Given the description of an element on the screen output the (x, y) to click on. 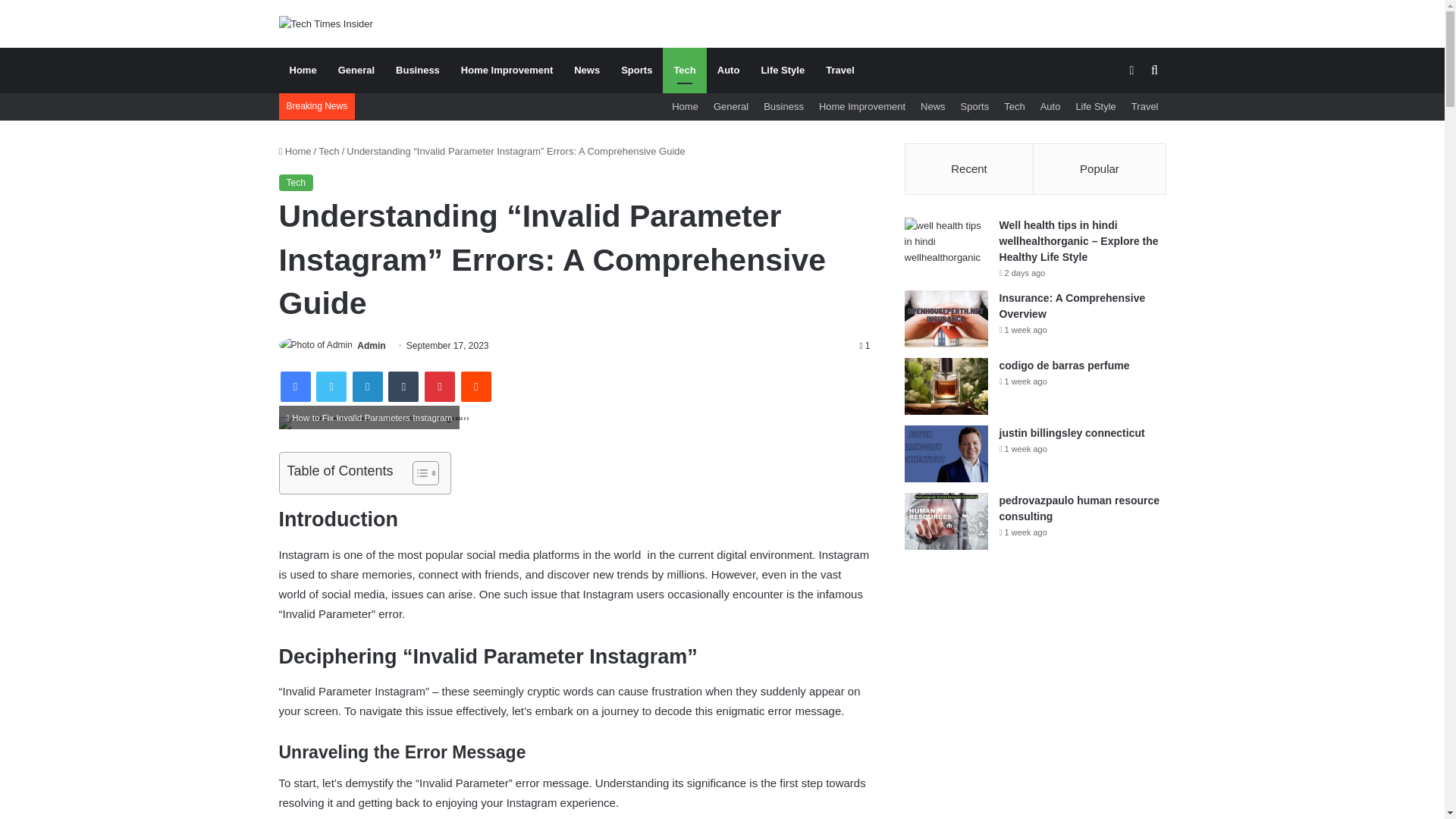
LinkedIn (367, 386)
Auto (728, 70)
General (356, 70)
Pinterest (439, 386)
Tech (296, 182)
Tumblr (403, 386)
Twitter (330, 386)
Facebook (296, 386)
Admin (370, 345)
Admin (370, 345)
Tech (1013, 106)
Life Style (1094, 106)
Travel (839, 70)
Tech (684, 70)
Home (303, 70)
